Given the description of an element on the screen output the (x, y) to click on. 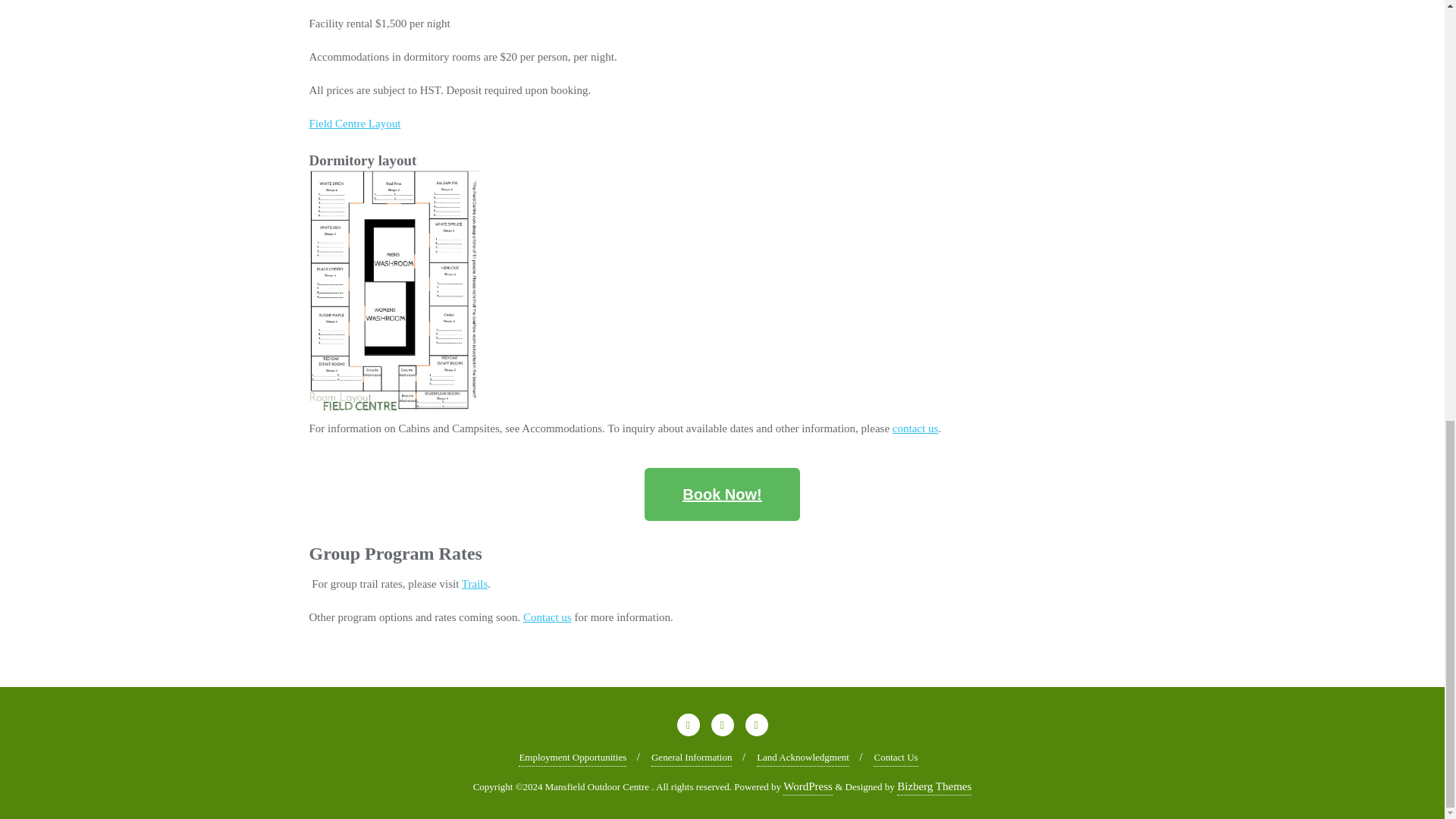
contact us (914, 428)
Field Centre Layout (354, 123)
Book Now! (722, 493)
